Given the description of an element on the screen output the (x, y) to click on. 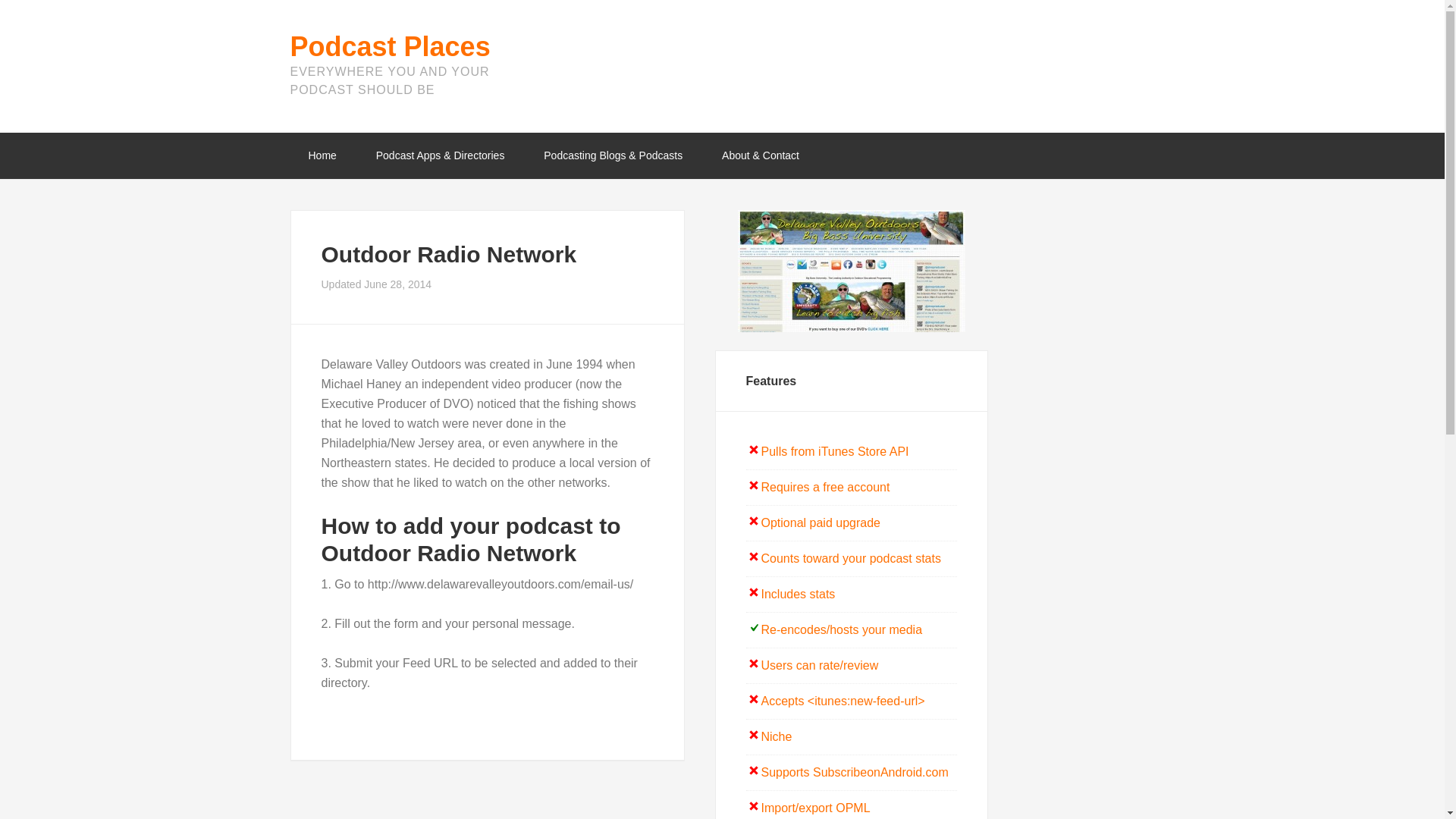
Optional paid upgrade (820, 522)
Requires a free account (825, 486)
Pulls from iTunes Store API (834, 451)
Podcast Places (389, 46)
Niche (776, 736)
Counts toward your podcast stats (850, 558)
Home (321, 155)
Supports SubscribeonAndroid.com (855, 771)
Includes stats (798, 594)
